Given the description of an element on the screen output the (x, y) to click on. 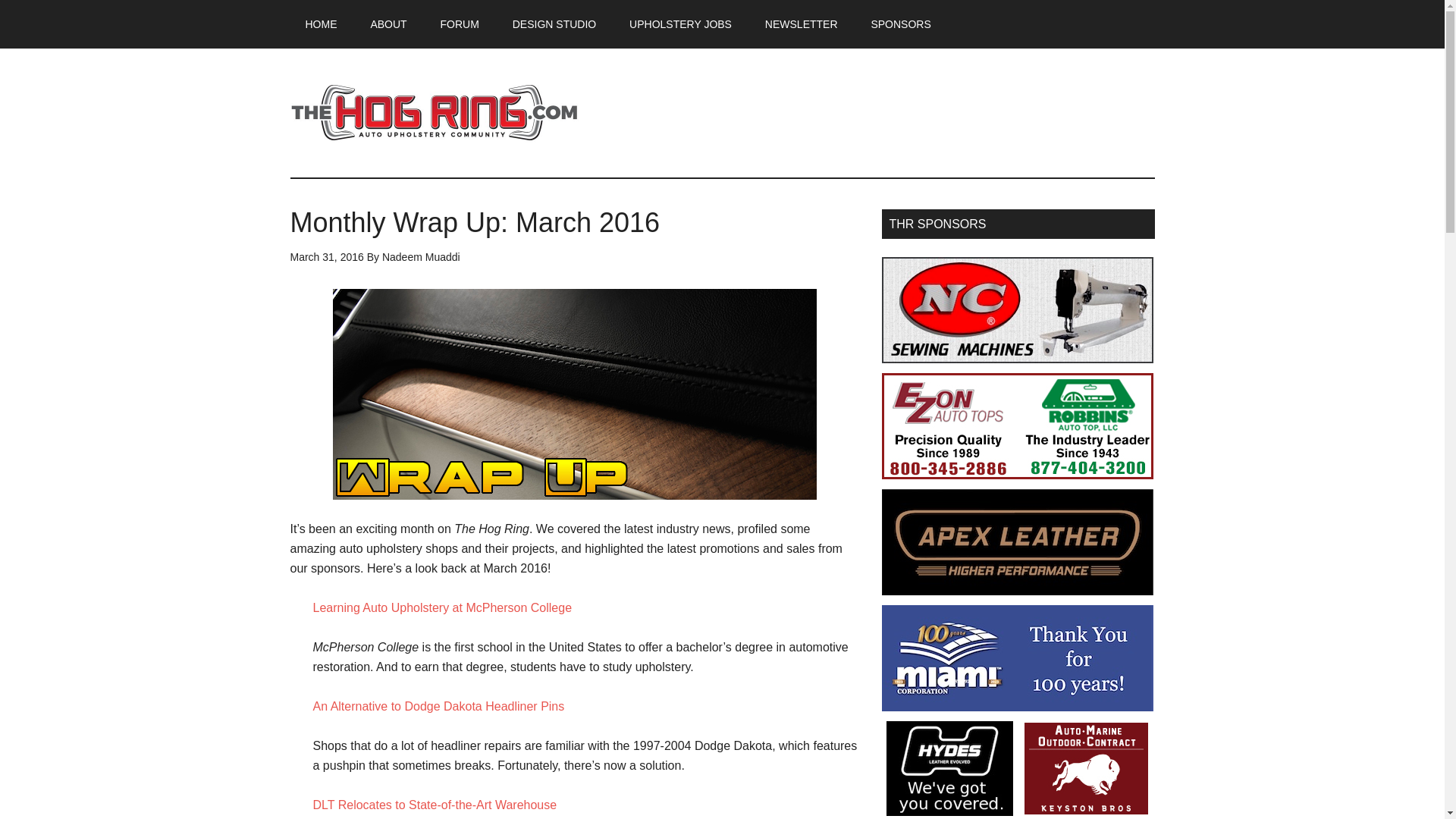
DLT Relocates to State-of-the-Art Warehouse (434, 804)
ABOUT (388, 24)
HOME (320, 24)
DESIGN STUDIO (554, 24)
UPHOLSTERY JOBS (680, 24)
NEWSLETTER (801, 24)
Nadeem Muaddi (420, 256)
FORUM (460, 24)
An Alternative to Dodge Dakota Headliner Pins (438, 706)
The Hog Ring (433, 112)
Learning Auto Upholstery at McPherson College (442, 607)
SPONSORS (900, 24)
